Given the description of an element on the screen output the (x, y) to click on. 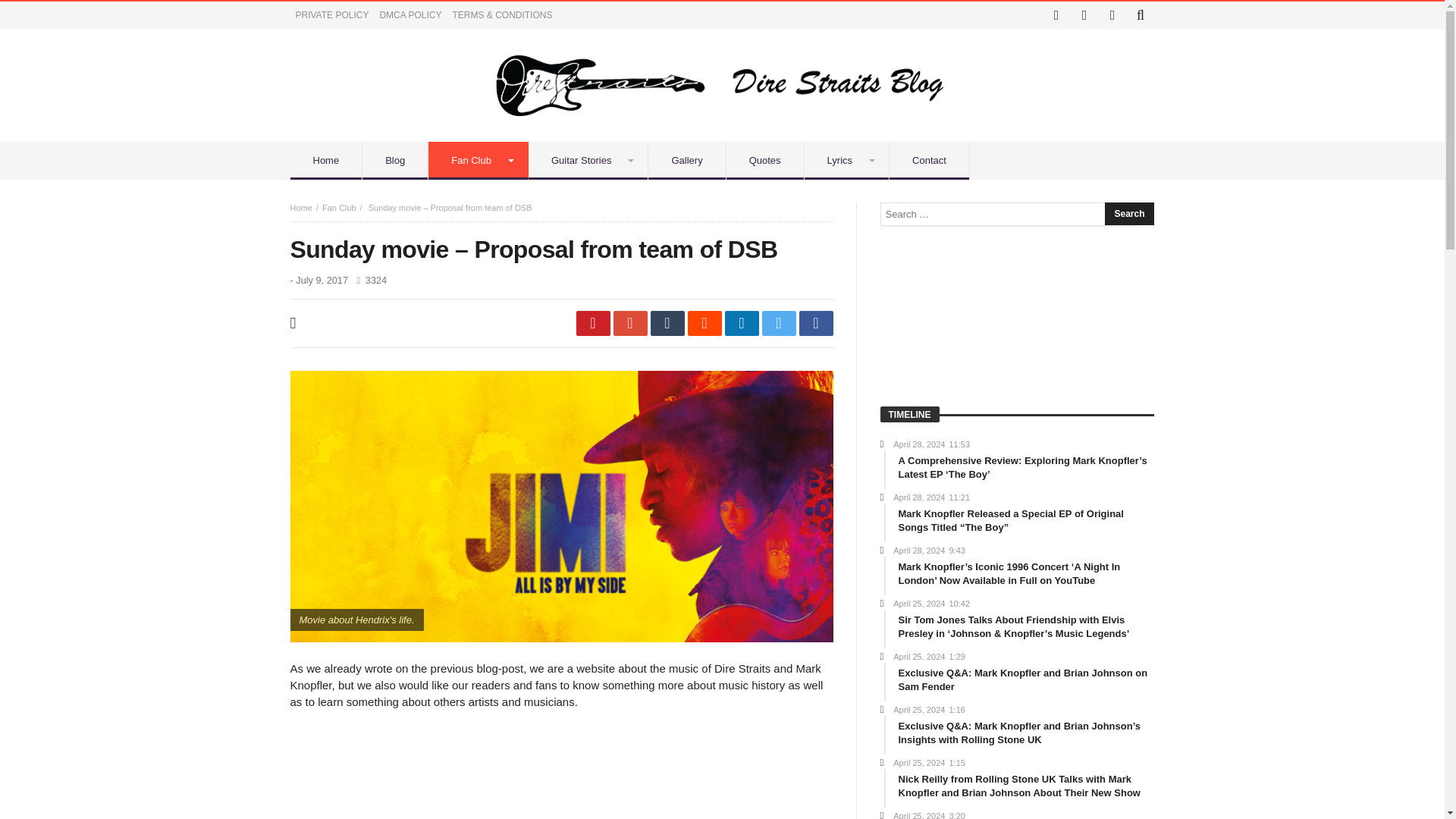
Rss (1111, 15)
Search (1129, 213)
Search (1129, 213)
Home (325, 160)
instagram (1084, 15)
PRIVATE POLICY (332, 15)
reddit (703, 323)
Fan Club (338, 207)
twitter (777, 323)
facebook (815, 323)
